Given the description of an element on the screen output the (x, y) to click on. 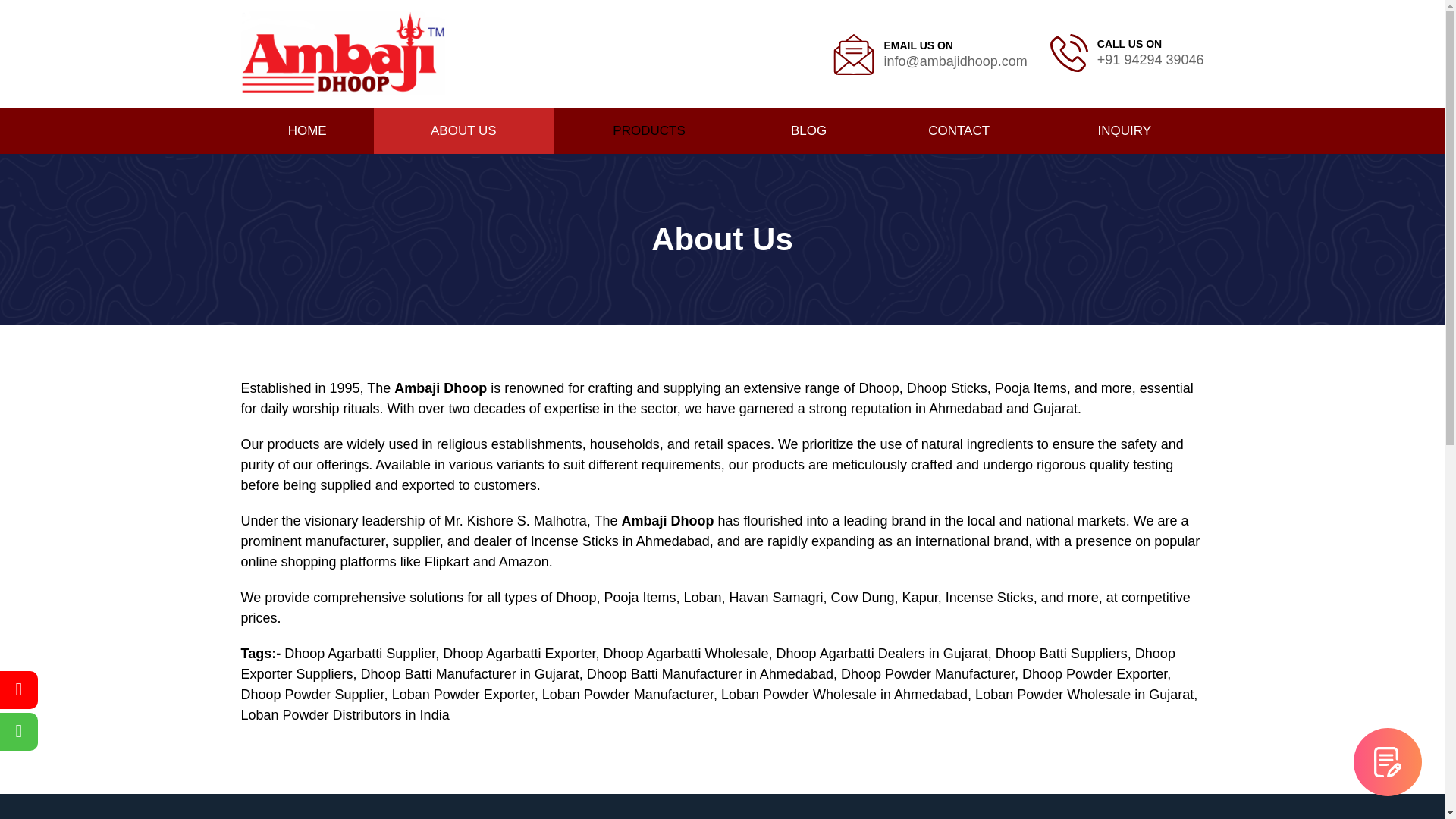
About Us (463, 130)
Home (307, 130)
INQUIRY (1124, 130)
CONTACT (958, 130)
ABOUT US (463, 130)
Our Products (648, 130)
HOME (307, 130)
PRODUCTS (648, 130)
Ambaji Dhoop (343, 54)
BLOG (808, 130)
